Given the description of an element on the screen output the (x, y) to click on. 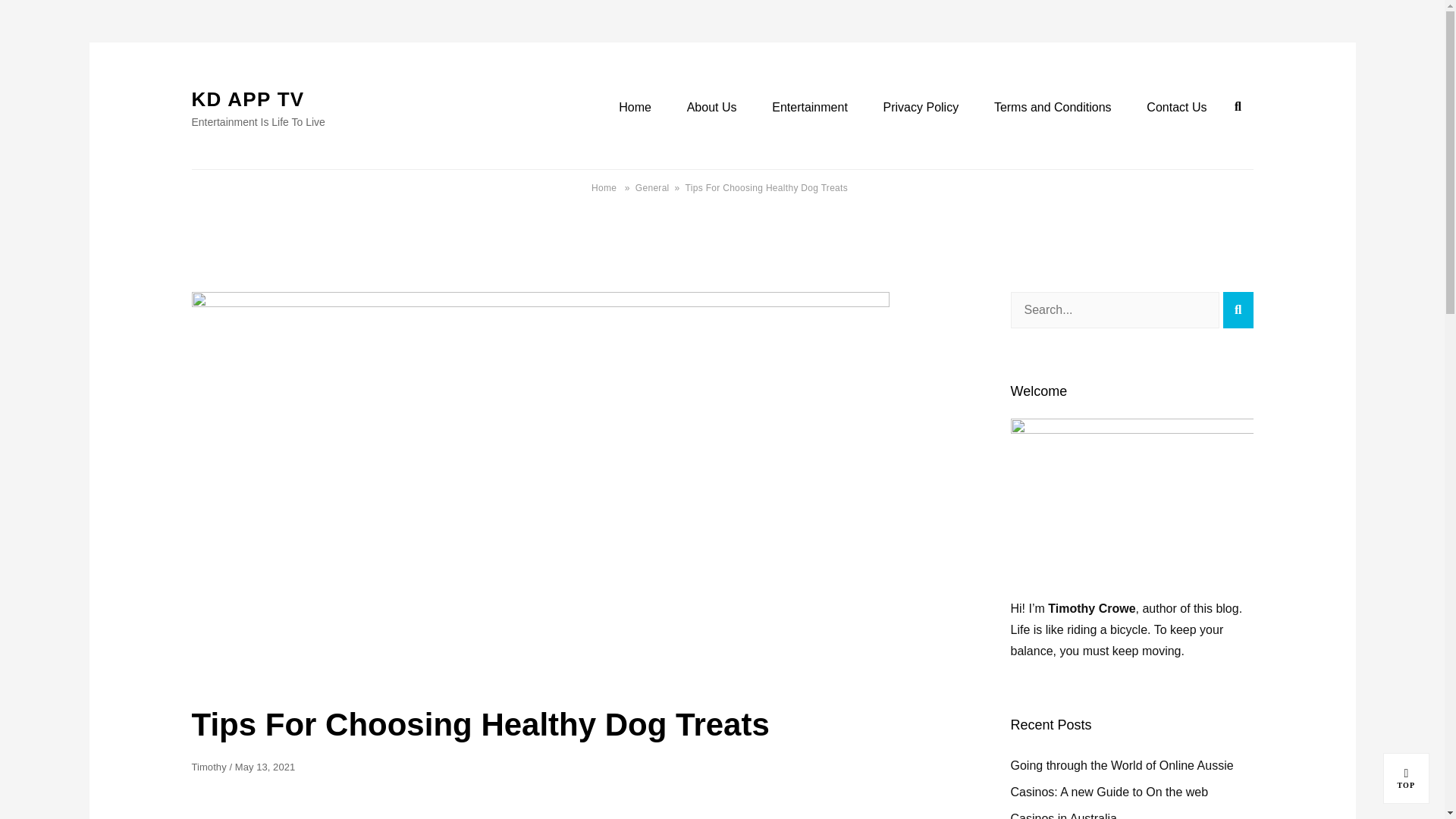
Home (634, 108)
Privacy Policy (921, 108)
May 13, 2021 (264, 767)
Entertainment (809, 108)
Timothy (207, 767)
Contact Us (1177, 108)
KD APP TV (1406, 777)
About Us (247, 98)
Search (711, 108)
Terms and Conditions (1237, 309)
Search (1053, 108)
